Given the description of an element on the screen output the (x, y) to click on. 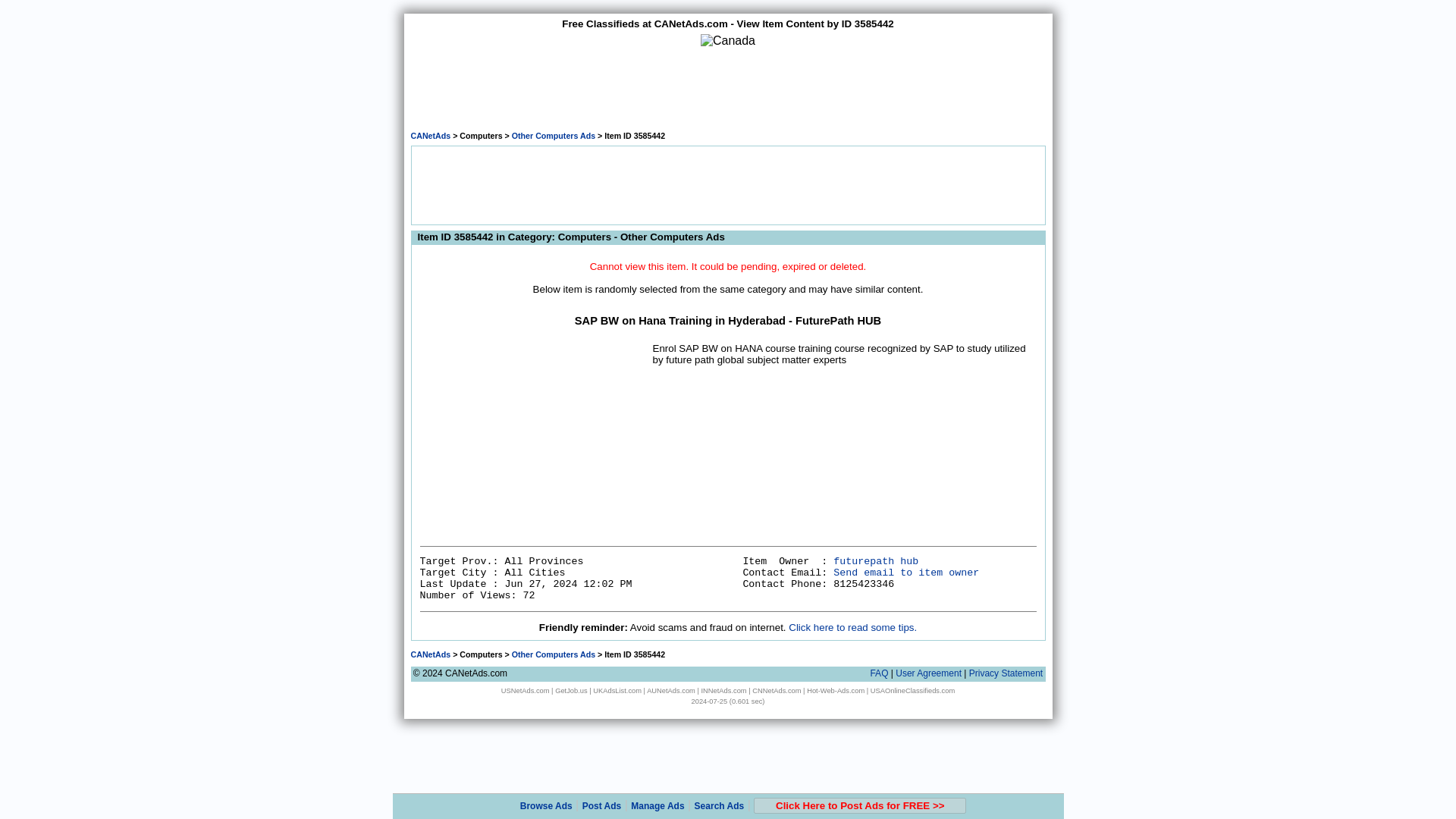
CANetAds (430, 654)
USNetAds.com (525, 690)
Privacy Statement (1005, 673)
Send email to item owner (905, 572)
Browse all items posted by this owner (875, 561)
CANetAds (430, 135)
FAQ (878, 673)
Other Computers Ads (553, 654)
User Agreement (927, 673)
UKAdsList.com (617, 690)
Other Computers Ads (553, 135)
futurepath hub (875, 561)
AUNetAds.com (670, 690)
Click here to read some tips. (853, 627)
USAOnlineClassifieds.com (912, 690)
